Given the description of an element on the screen output the (x, y) to click on. 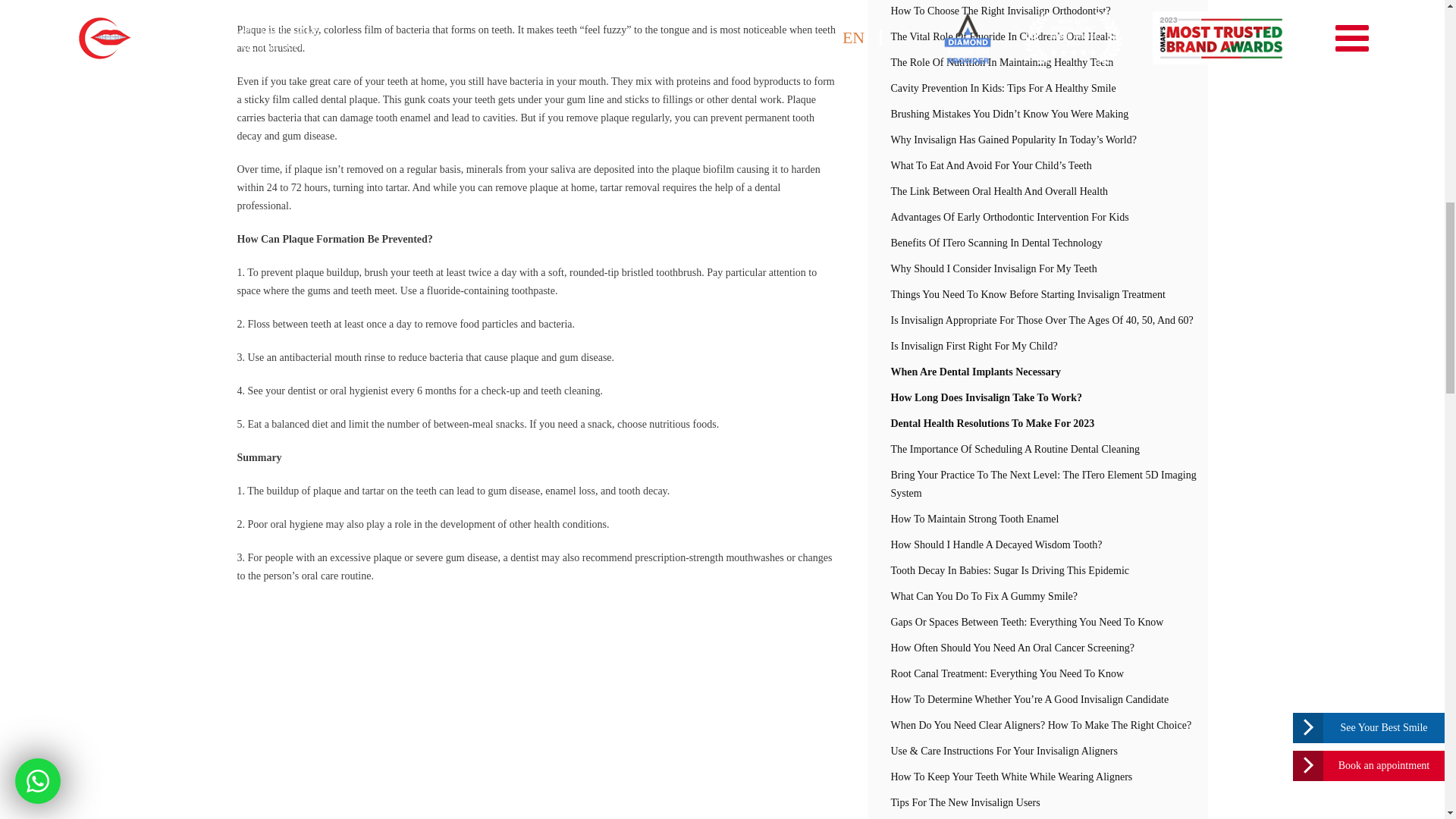
How To Choose The Right Invisalign Orthodontist? (1037, 12)
Cavity Prevention In Kids: Tips For A Healthy Smile (1037, 88)
The Role Of Nutrition In Maintaining Healthy Teeth (1037, 62)
